Given the description of an element on the screen output the (x, y) to click on. 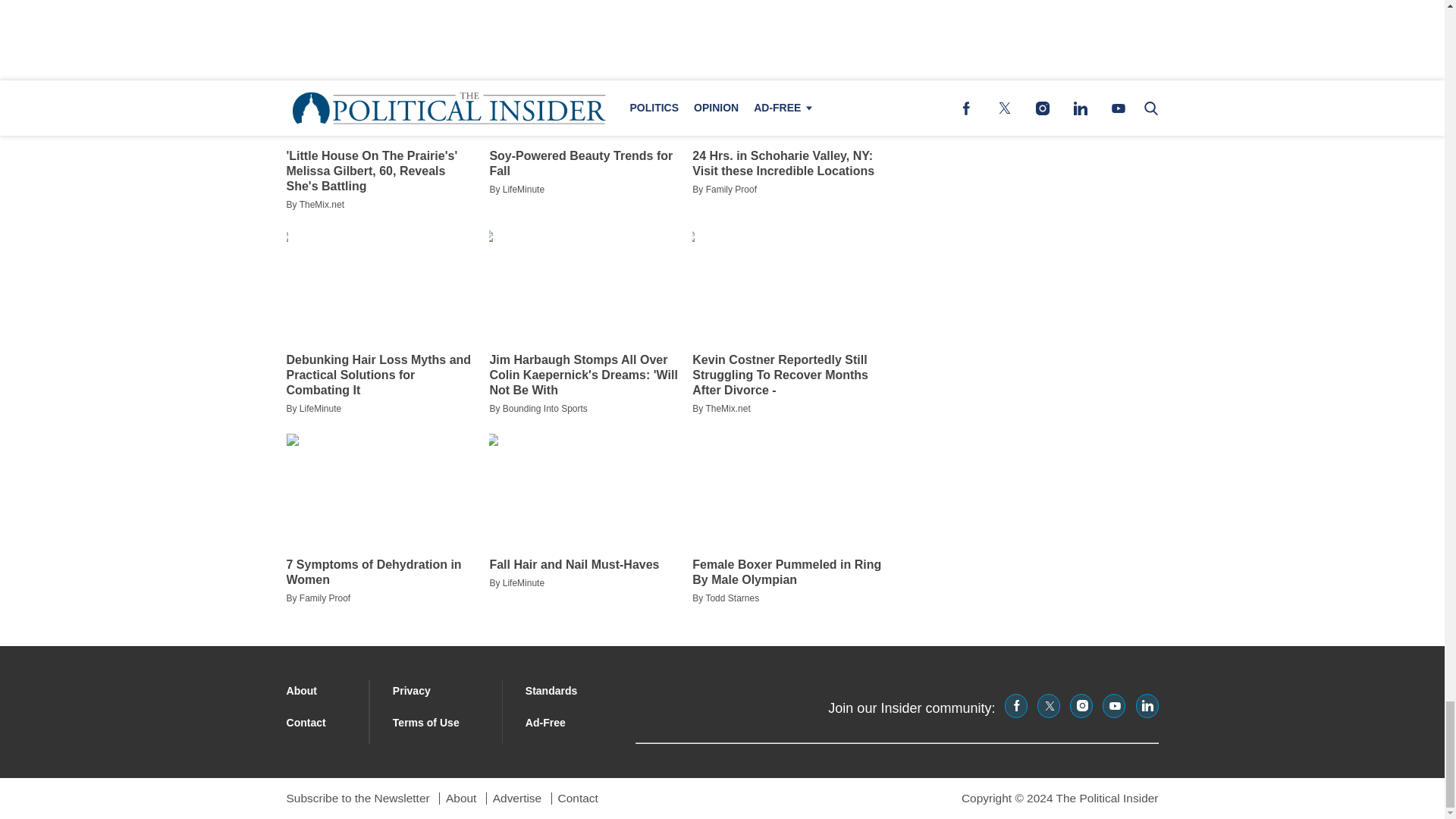
Follow us on Twitter (1047, 705)
Connect with us on LinkedIn (1146, 705)
Follow us on Facebook (1015, 705)
Follow us on Instagram (1081, 705)
Subscribe to our YouTube channel (1113, 705)
